Given the description of an element on the screen output the (x, y) to click on. 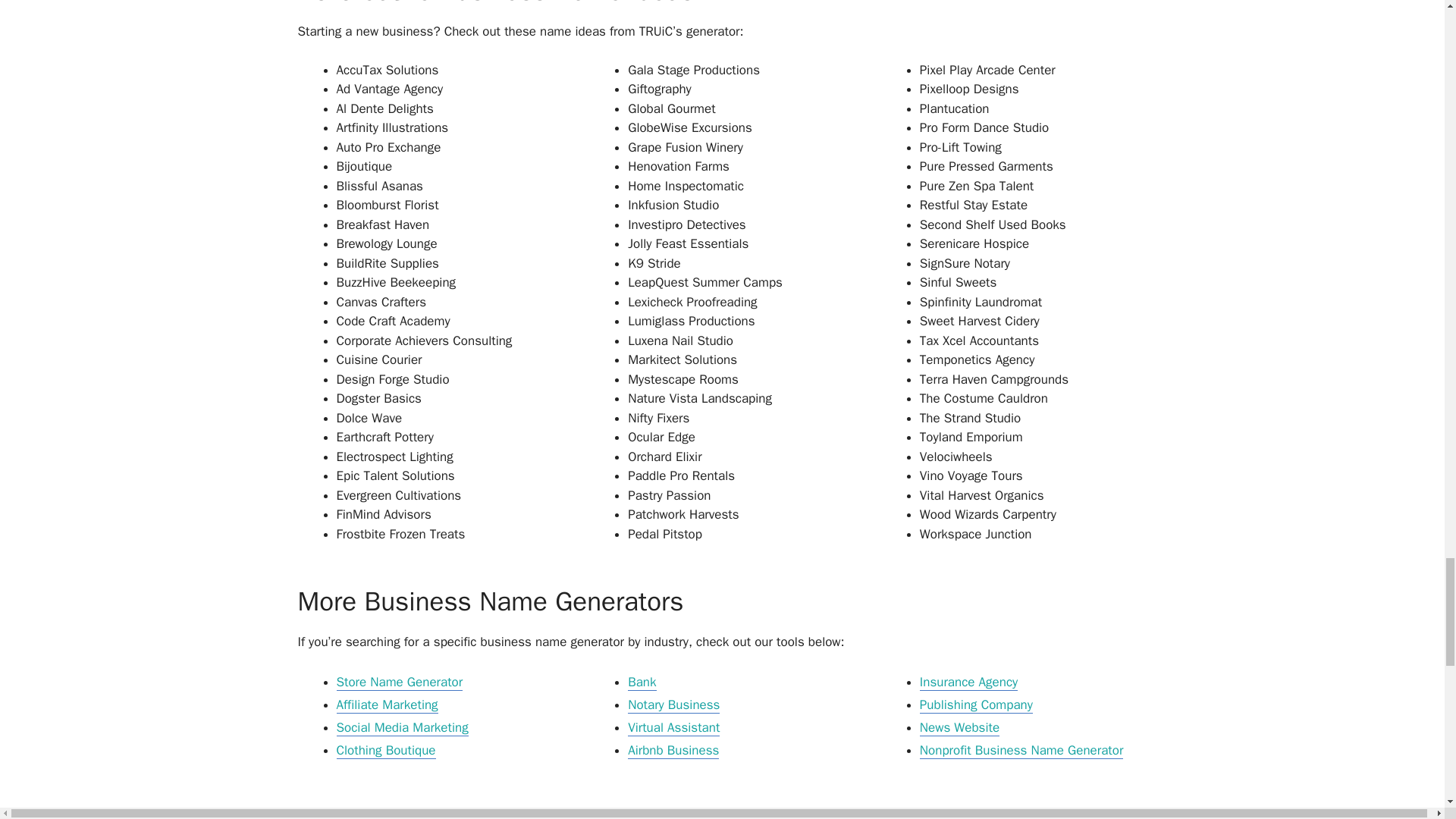
Affiliate Marketing (387, 704)
Publishing Company (976, 704)
Clothing Boutique (385, 750)
Social Media Marketing (402, 727)
Insurance Agency (968, 682)
News Website (959, 727)
Bank (641, 682)
Nonprofit Business Name Generator (1022, 750)
Store Name Generator (399, 682)
Virtual Assistant (673, 727)
Notary Business (673, 704)
Airbnb Business (673, 750)
industry-specific business name generators (705, 813)
